Given the description of an element on the screen output the (x, y) to click on. 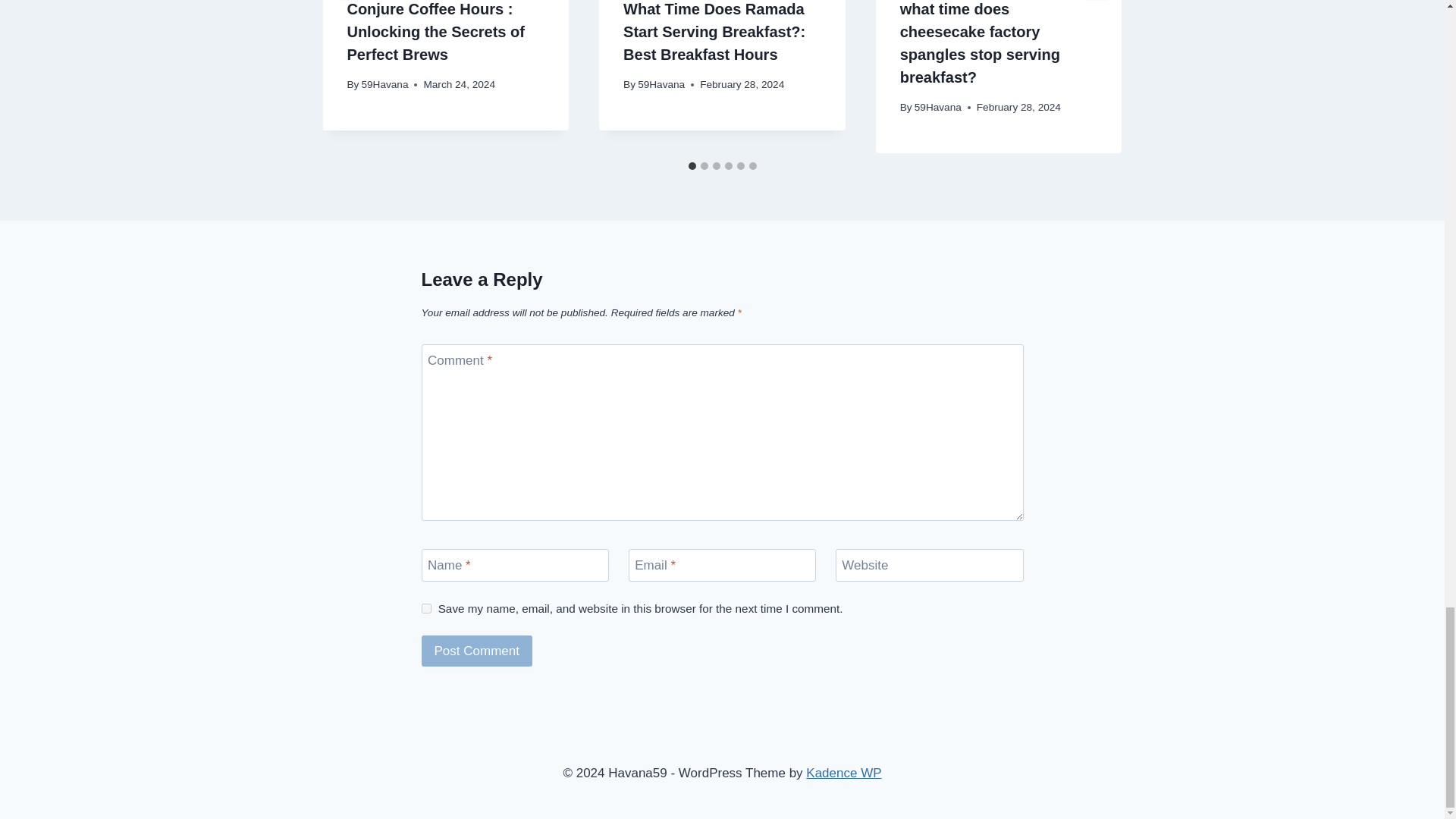
yes (426, 608)
Post Comment (477, 650)
